Given the description of an element on the screen output the (x, y) to click on. 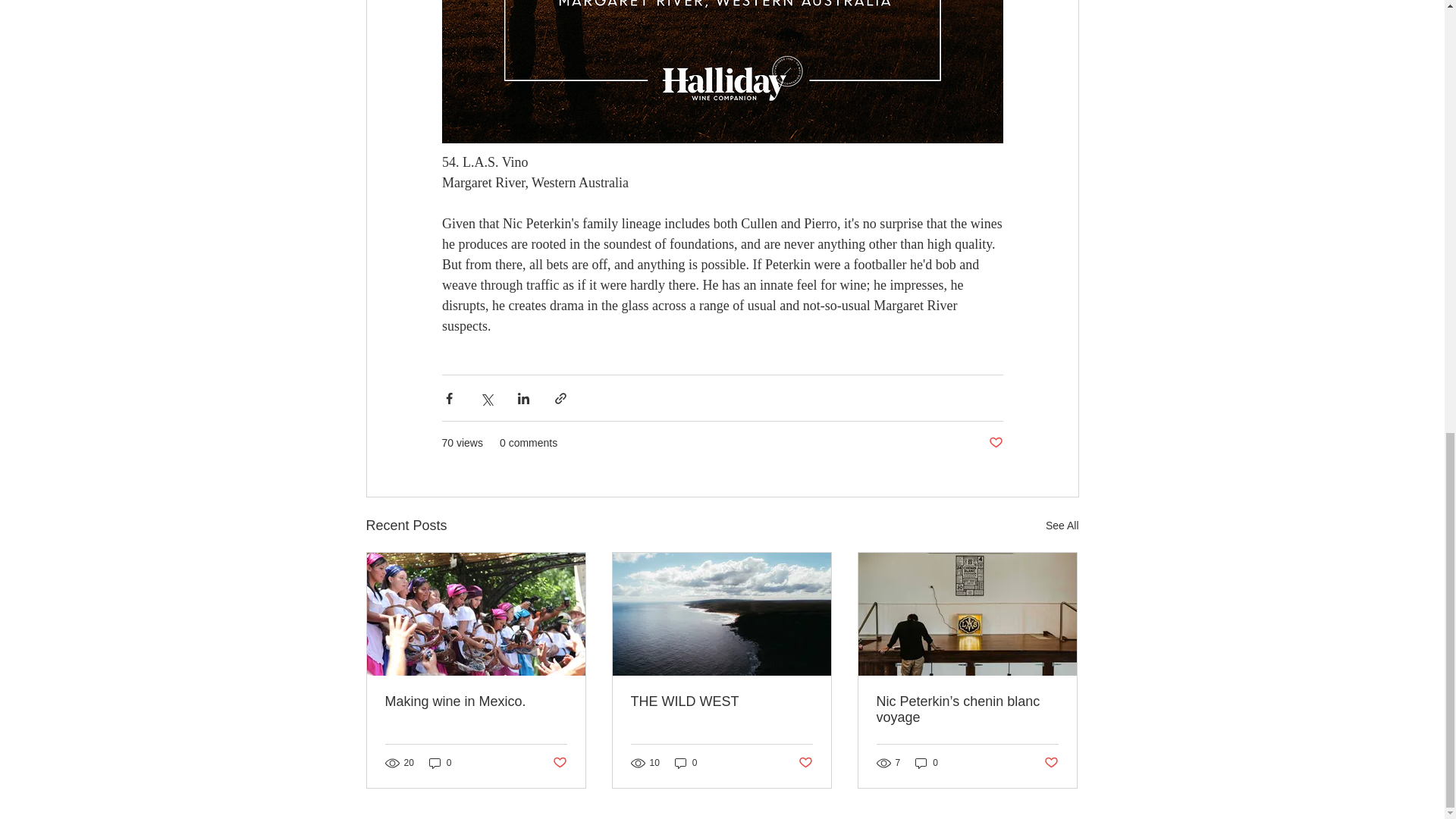
Post not marked as liked (995, 442)
See All (1061, 526)
Post not marked as liked (1050, 763)
0 (685, 762)
Post not marked as liked (558, 763)
THE WILD WEST (721, 701)
0 (926, 762)
0 (440, 762)
Post not marked as liked (804, 763)
Making wine in Mexico. (476, 701)
